Given the description of an element on the screen output the (x, y) to click on. 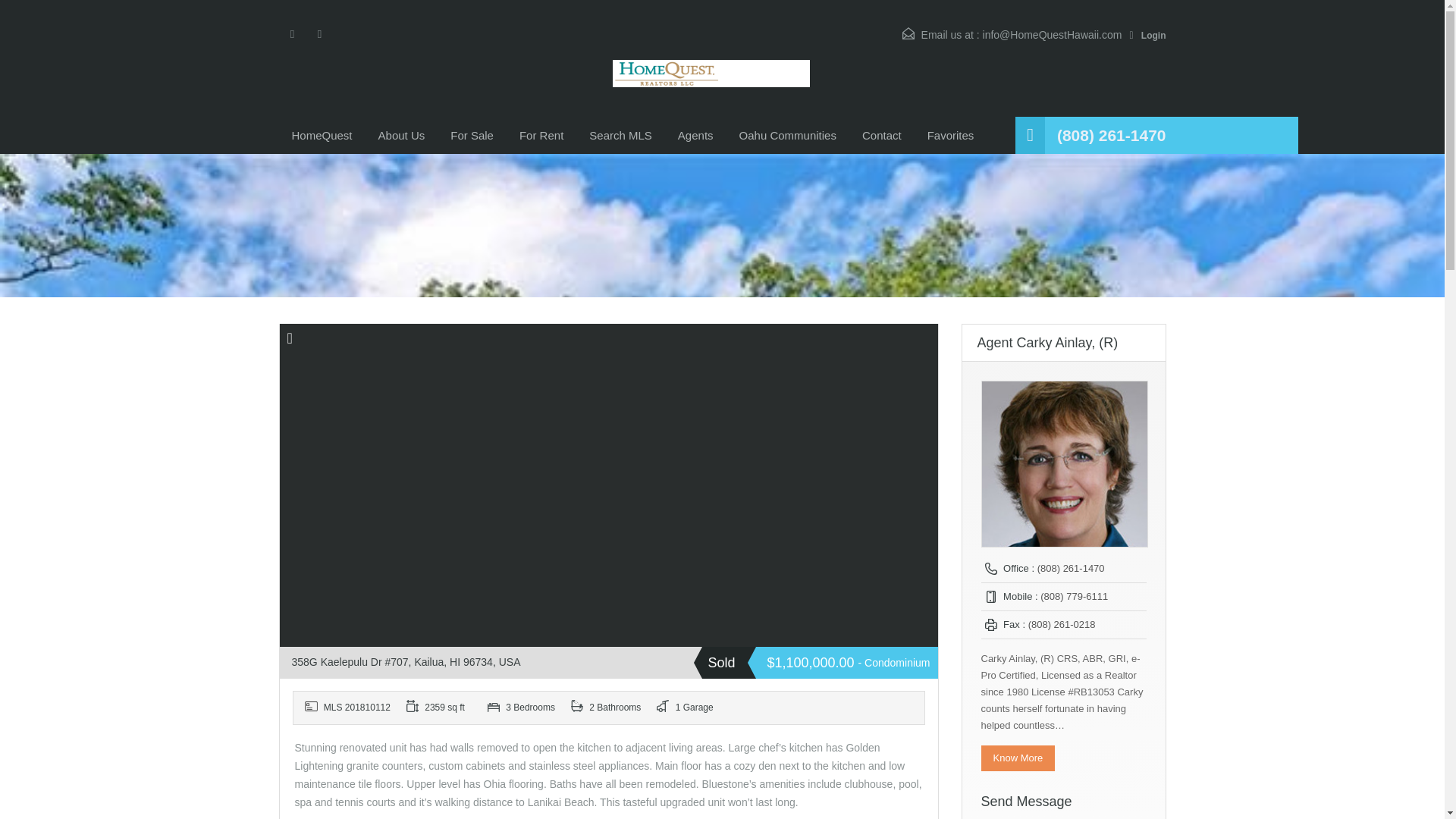
Search MLS (620, 135)
Login (1147, 35)
Oahu Communities (787, 135)
Make a Call (1111, 135)
Contact (881, 135)
For Rent (541, 135)
HomeQuest (322, 135)
Agents (695, 135)
For Sale (472, 135)
HomeQuest Hawaii, LLC. (710, 73)
